Given the description of an element on the screen output the (x, y) to click on. 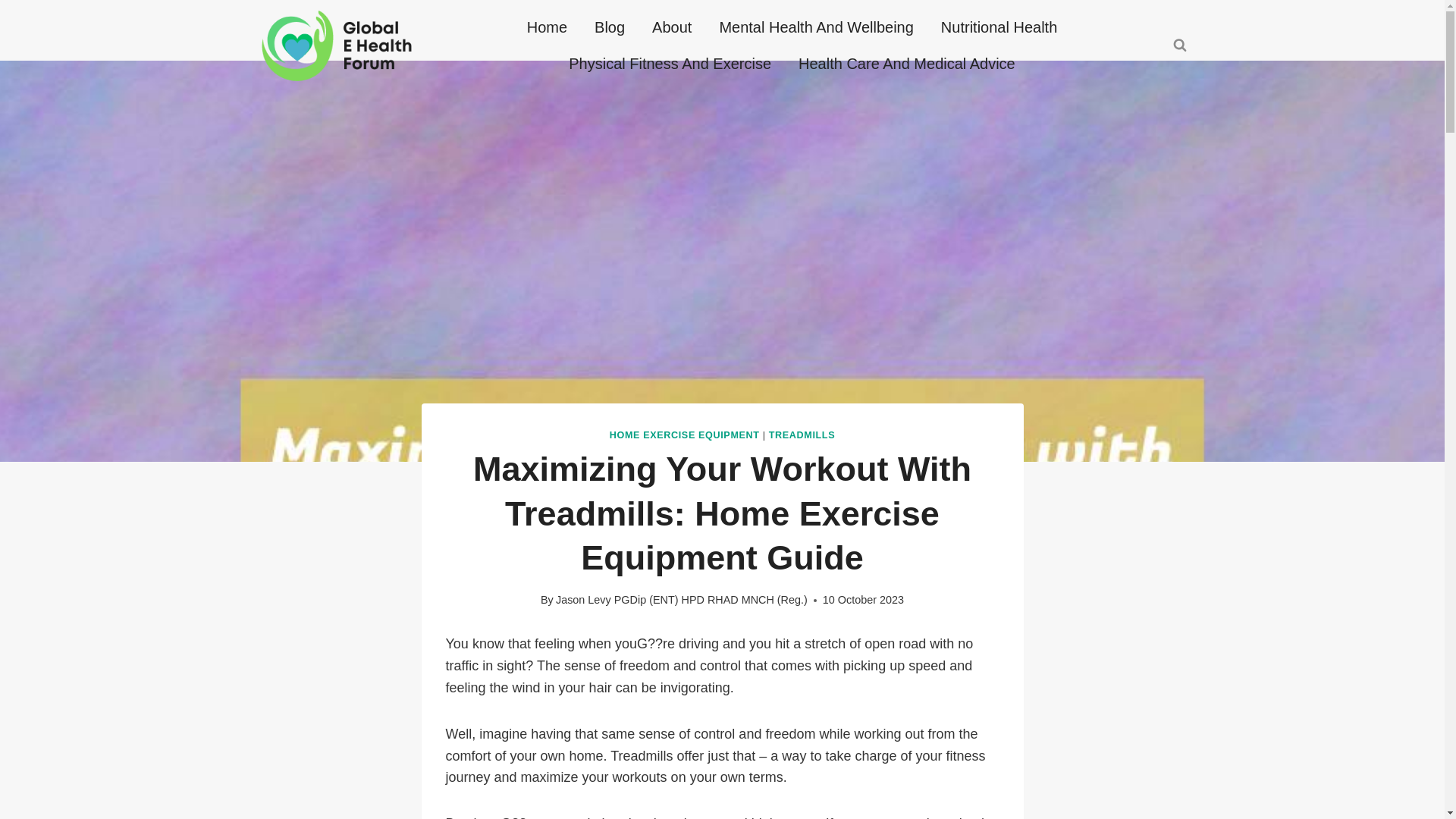
About (671, 27)
Nutritional Health (998, 27)
HOME EXERCISE EQUIPMENT (685, 434)
Mental Health And Wellbeing (815, 27)
Home (546, 27)
Blog (609, 27)
TREADMILLS (801, 434)
Physical Fitness And Exercise (669, 63)
Health Care And Medical Advice (906, 63)
